Given the description of an element on the screen output the (x, y) to click on. 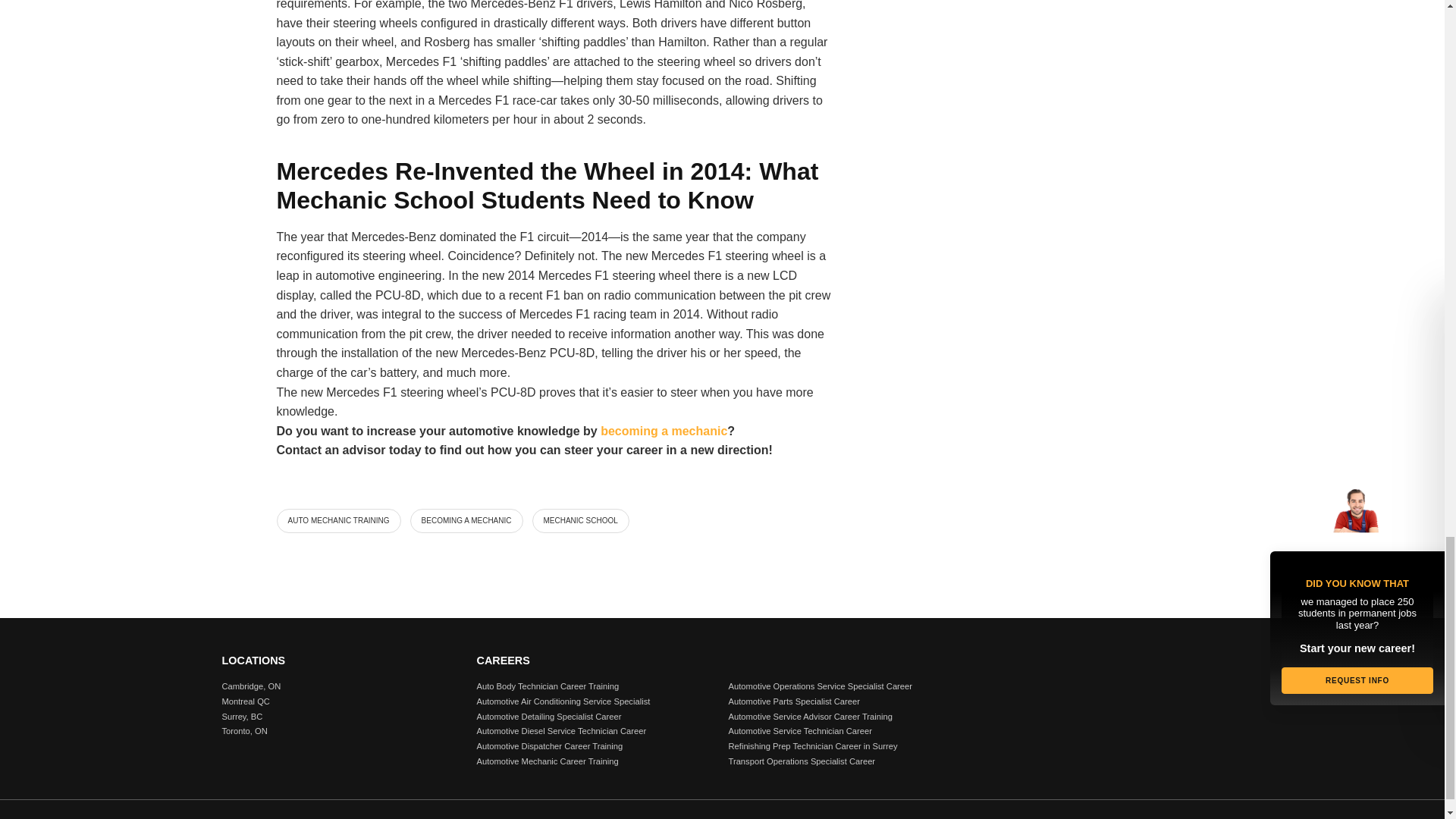
MECHANIC SCHOOL (580, 520)
BECOMING A MECHANIC (466, 520)
AUTO MECHANIC TRAINING (338, 520)
becoming a mechanic (662, 431)
